Given the description of an element on the screen output the (x, y) to click on. 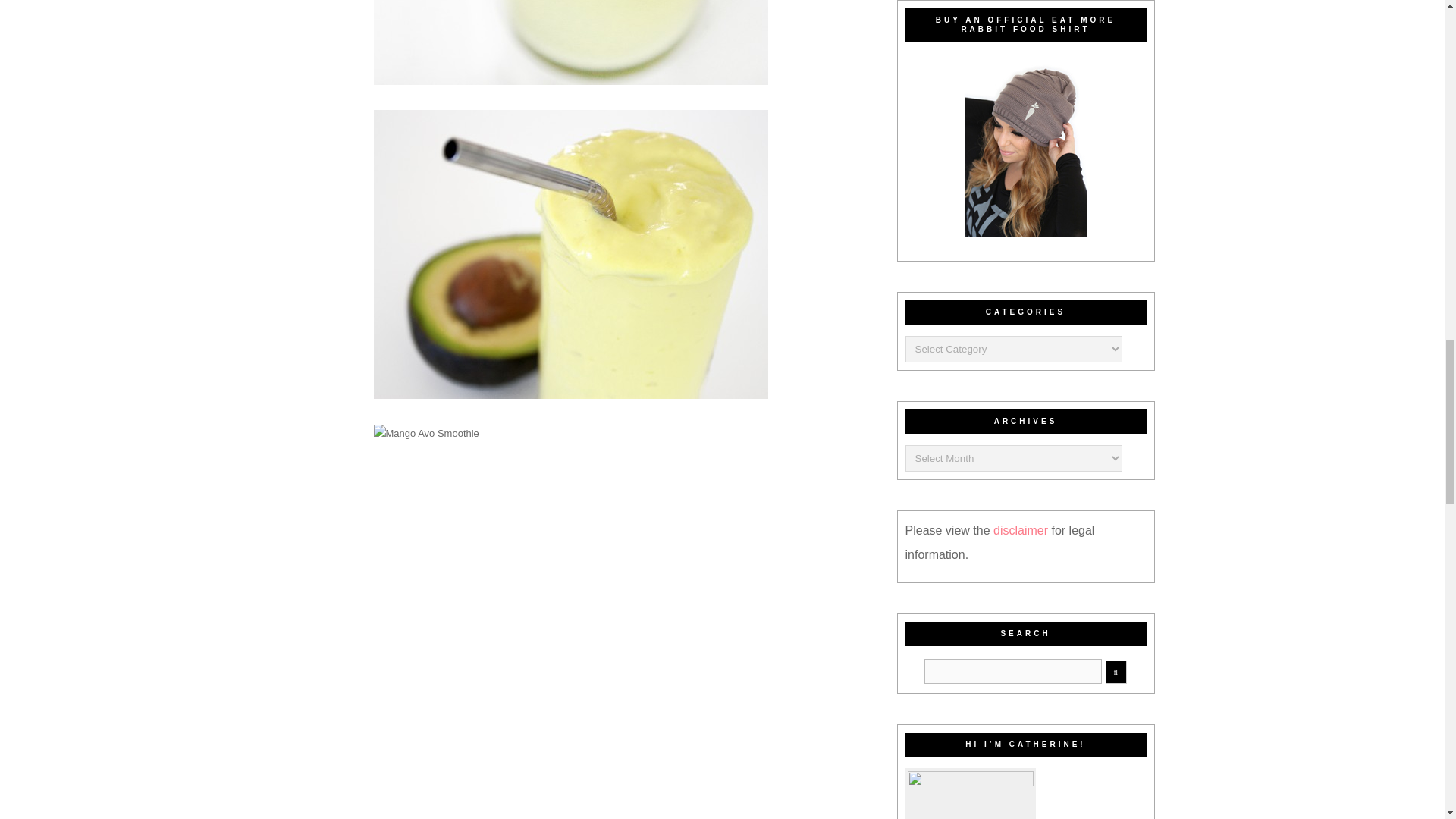
disclaimer (1021, 530)
disclaimer (1021, 530)
Search (1013, 671)
